Given the description of an element on the screen output the (x, y) to click on. 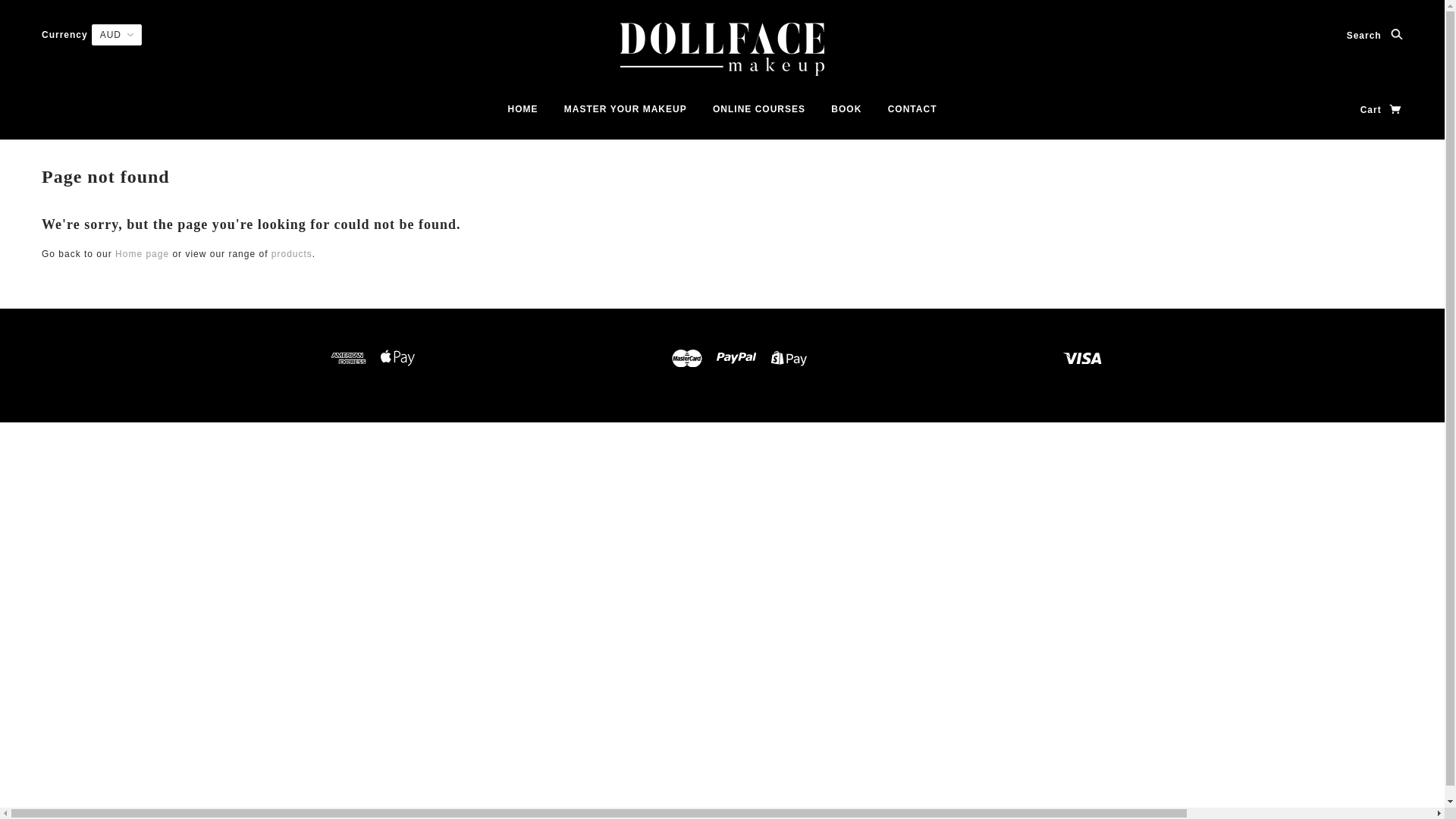
Search Element type: text (1374, 35)
products Element type: text (291, 253)
MASTER YOUR MAKEUP Element type: text (625, 115)
CONTACT Element type: text (912, 115)
BOOK Element type: text (845, 115)
Dollface Makeup Element type: hover (722, 48)
HOME Element type: text (522, 115)
ONLINE COURSES Element type: text (758, 115)
Cart Element type: text (1381, 109)
Home page Element type: text (142, 253)
